Given the description of an element on the screen output the (x, y) to click on. 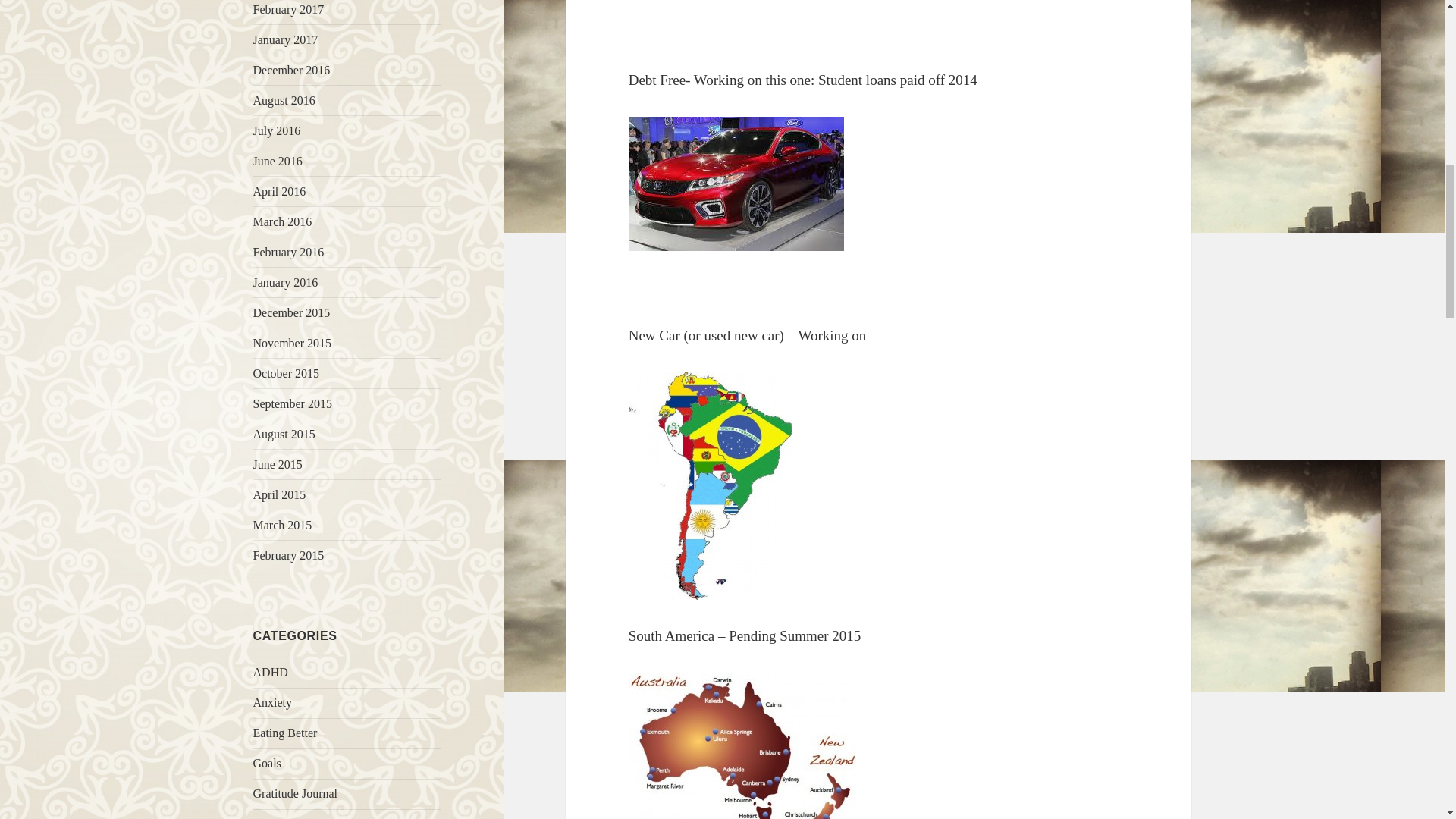
December 2016 (291, 69)
November 2015 (292, 342)
February 2015 (288, 554)
September 2015 (292, 403)
March 2016 (283, 221)
Eating Better (285, 732)
Growth (271, 818)
June 2016 (277, 160)
January 2017 (285, 39)
April 2015 (279, 494)
